Given the description of an element on the screen output the (x, y) to click on. 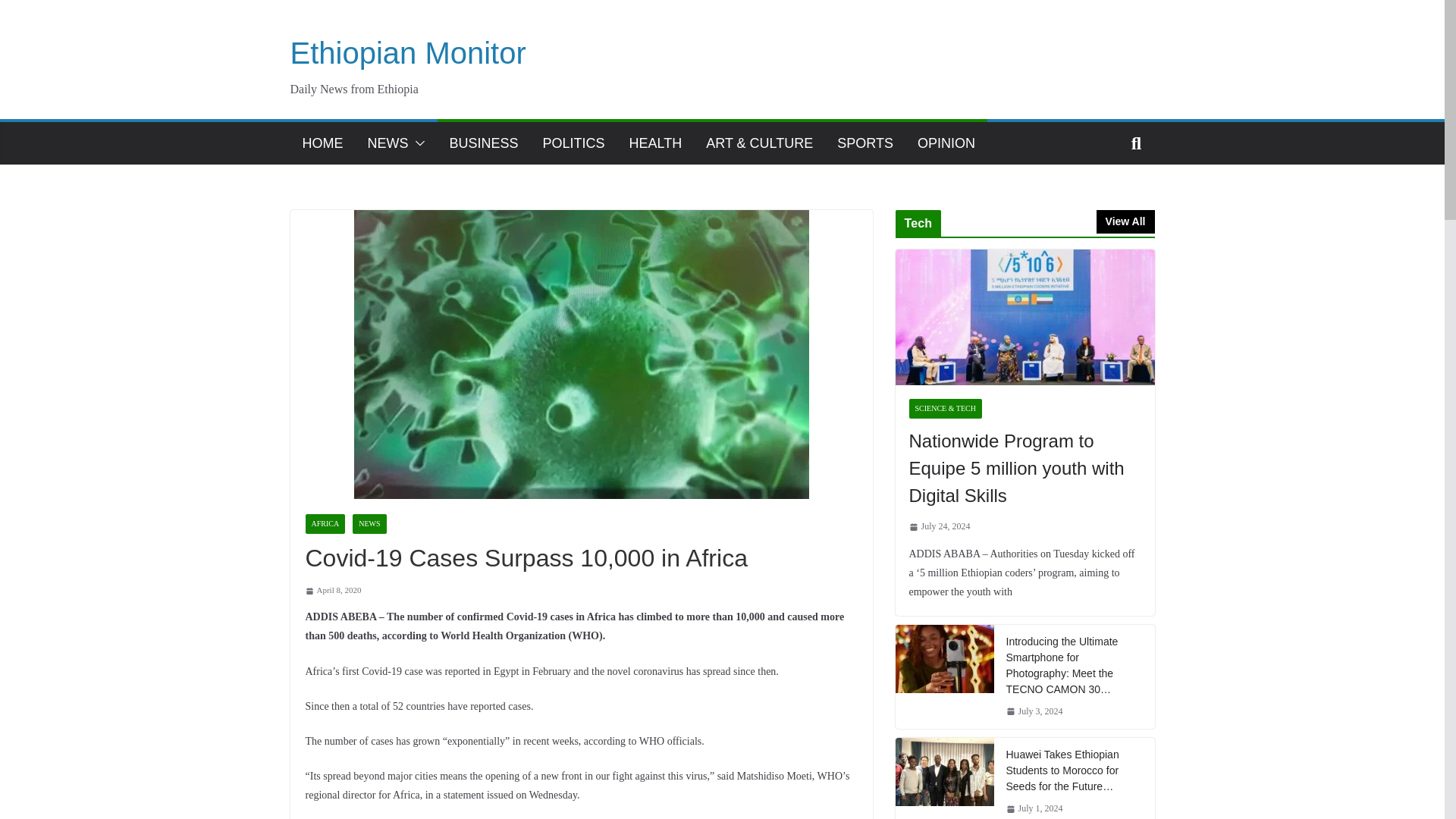
April 8, 2020 (332, 590)
Ethiopian Monitor (407, 52)
SPORTS (865, 143)
BUSINESS (483, 143)
NEWS (368, 523)
AFRICA (324, 523)
OPINION (946, 143)
9:33 pm (938, 526)
12:08 pm (332, 590)
View All (1125, 221)
POLITICS (574, 143)
